Given the description of an element on the screen output the (x, y) to click on. 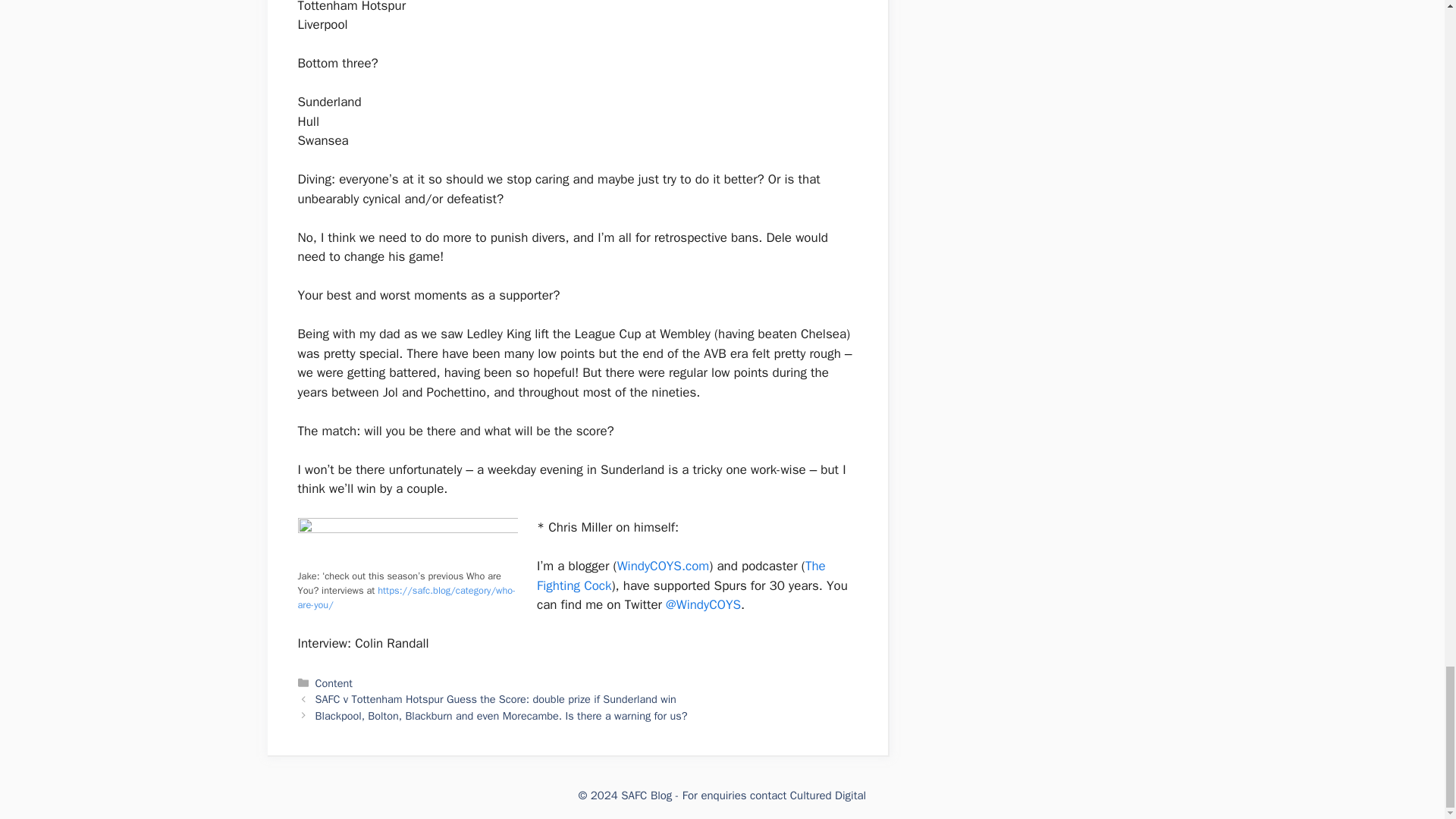
Content (333, 683)
The Fighting Cock (681, 575)
WindyCOYS.com (663, 565)
